Given the description of an element on the screen output the (x, y) to click on. 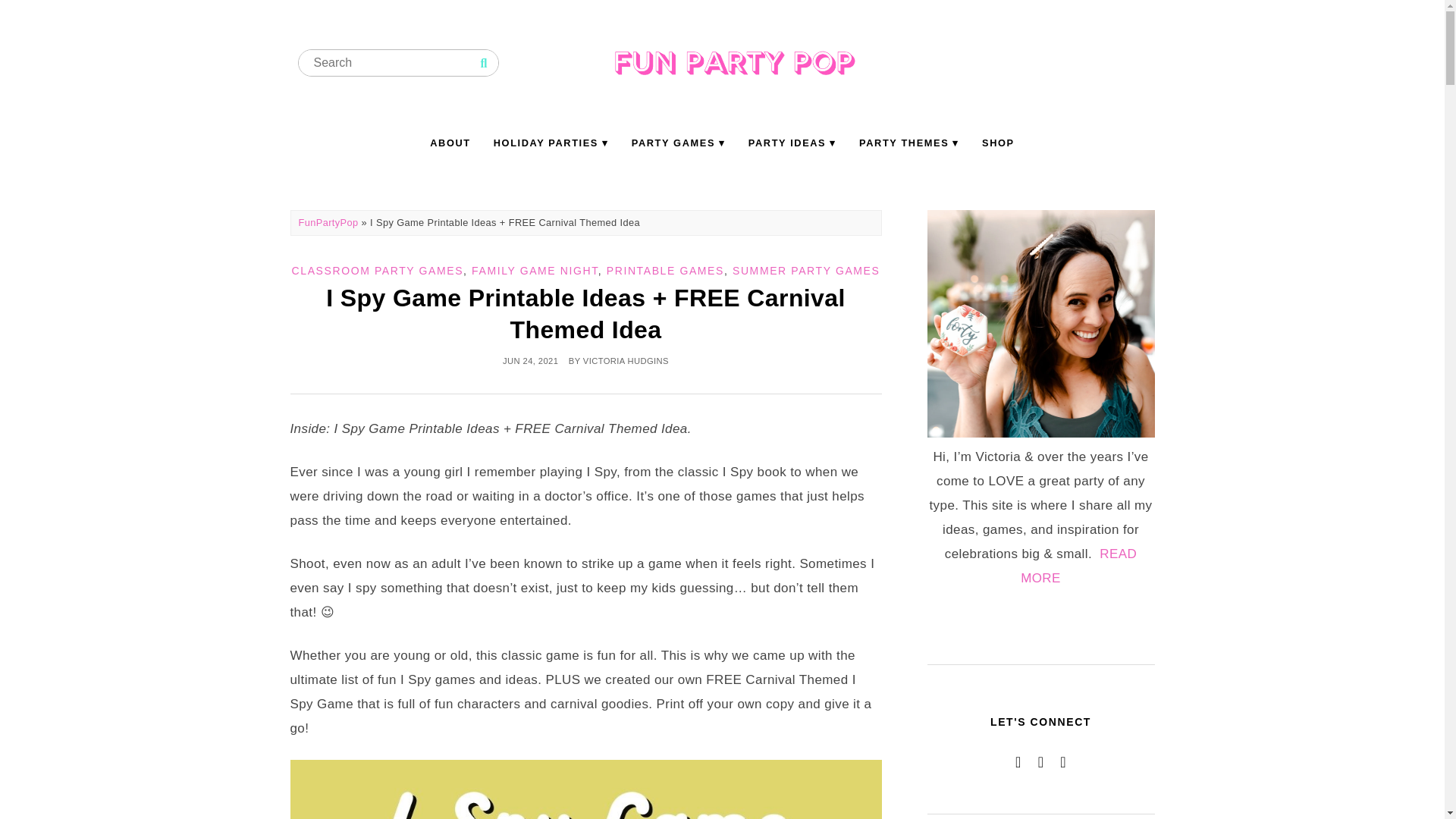
PARTY GAMES (678, 143)
HOLIDAY PARTIES (550, 143)
ABOUT (450, 143)
PARTY IDEAS (791, 143)
